Given the description of an element on the screen output the (x, y) to click on. 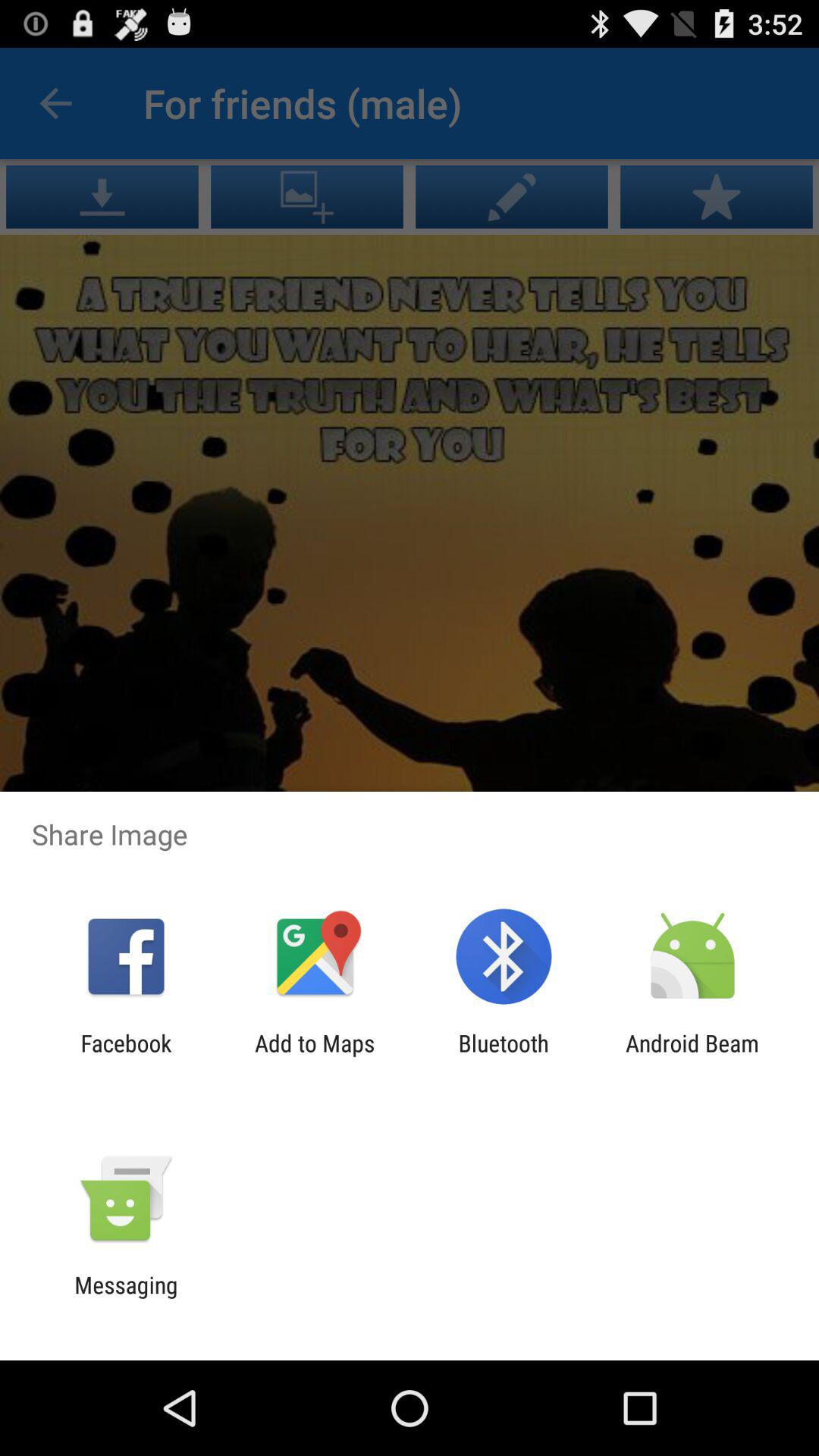
choose the item to the right of the add to maps (503, 1056)
